Given the description of an element on the screen output the (x, y) to click on. 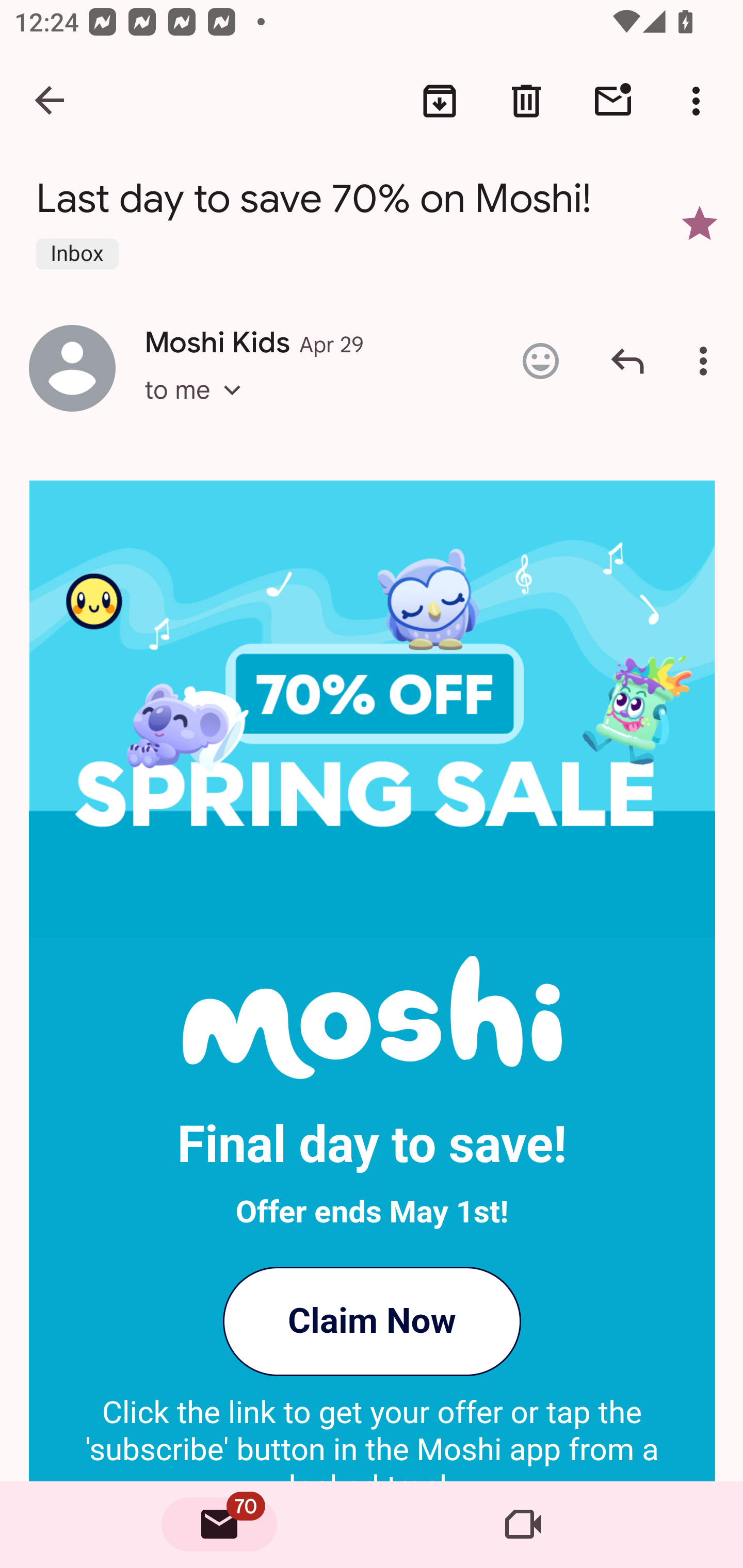
Navigate up (50, 101)
Archive (439, 101)
Delete (525, 101)
Mark unread (612, 101)
More options (699, 101)
Remove star (699, 223)
Add emoji reaction (540, 361)
Reply (626, 361)
More options (706, 361)
Show contact information for Moshi Kids (71, 367)
Meet (523, 1524)
